Given the description of an element on the screen output the (x, y) to click on. 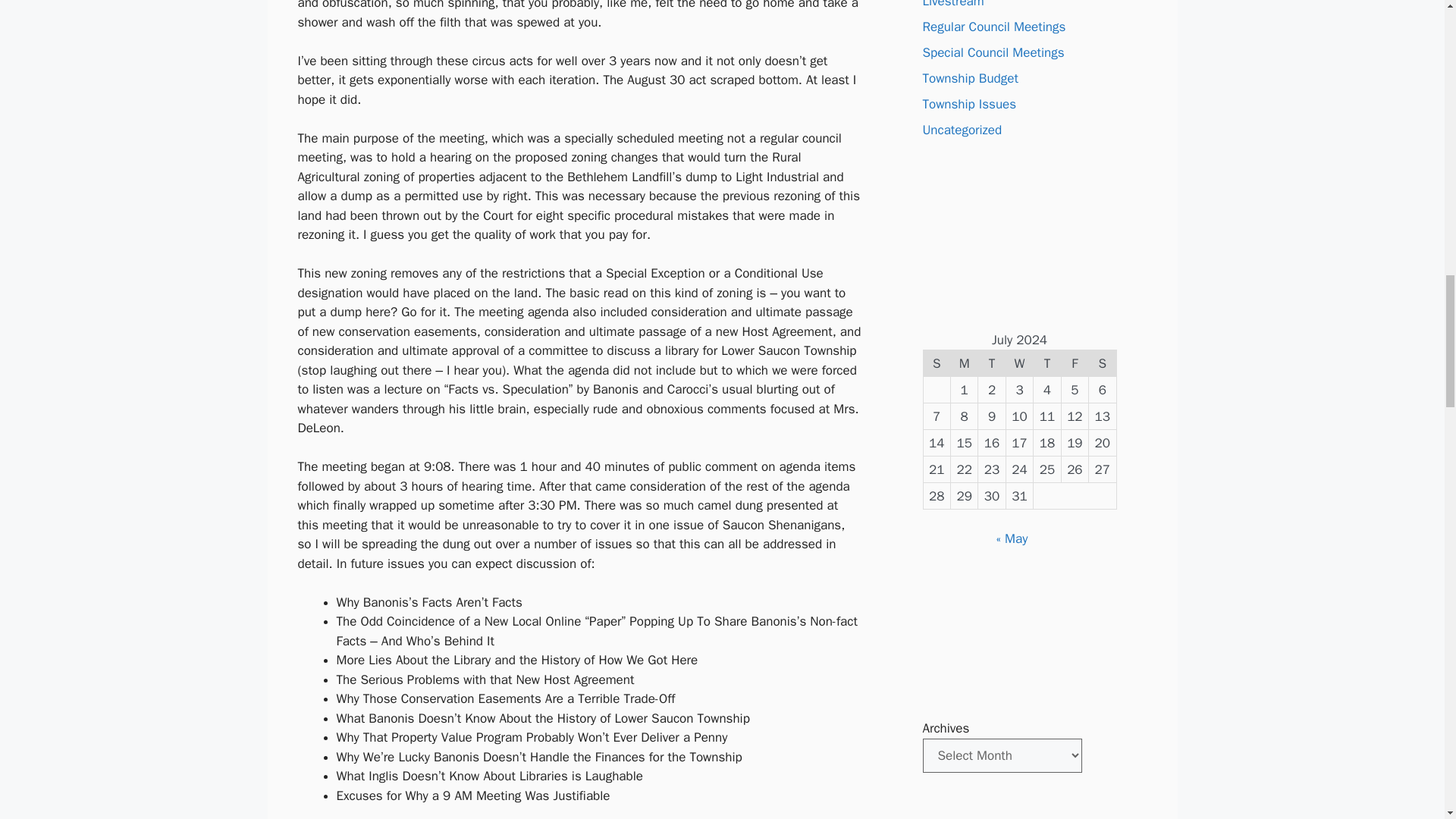
Tuesday (992, 363)
Saturday (1102, 363)
Sunday (936, 363)
Thursday (1047, 363)
Monday (963, 363)
Friday (1074, 363)
Wednesday (1019, 363)
